Given the description of an element on the screen output the (x, y) to click on. 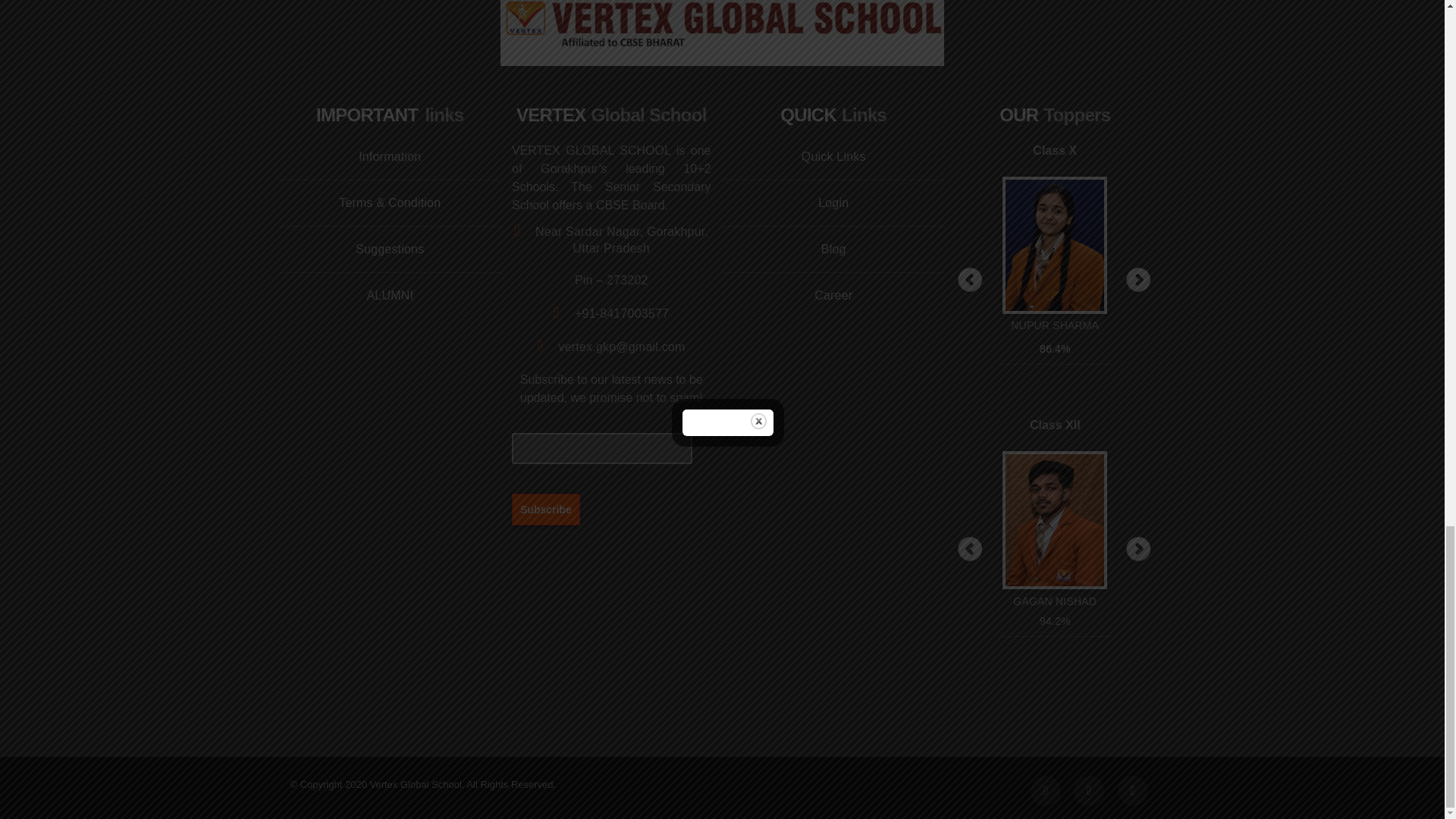
Subscribe (545, 508)
